Given the description of an element on the screen output the (x, y) to click on. 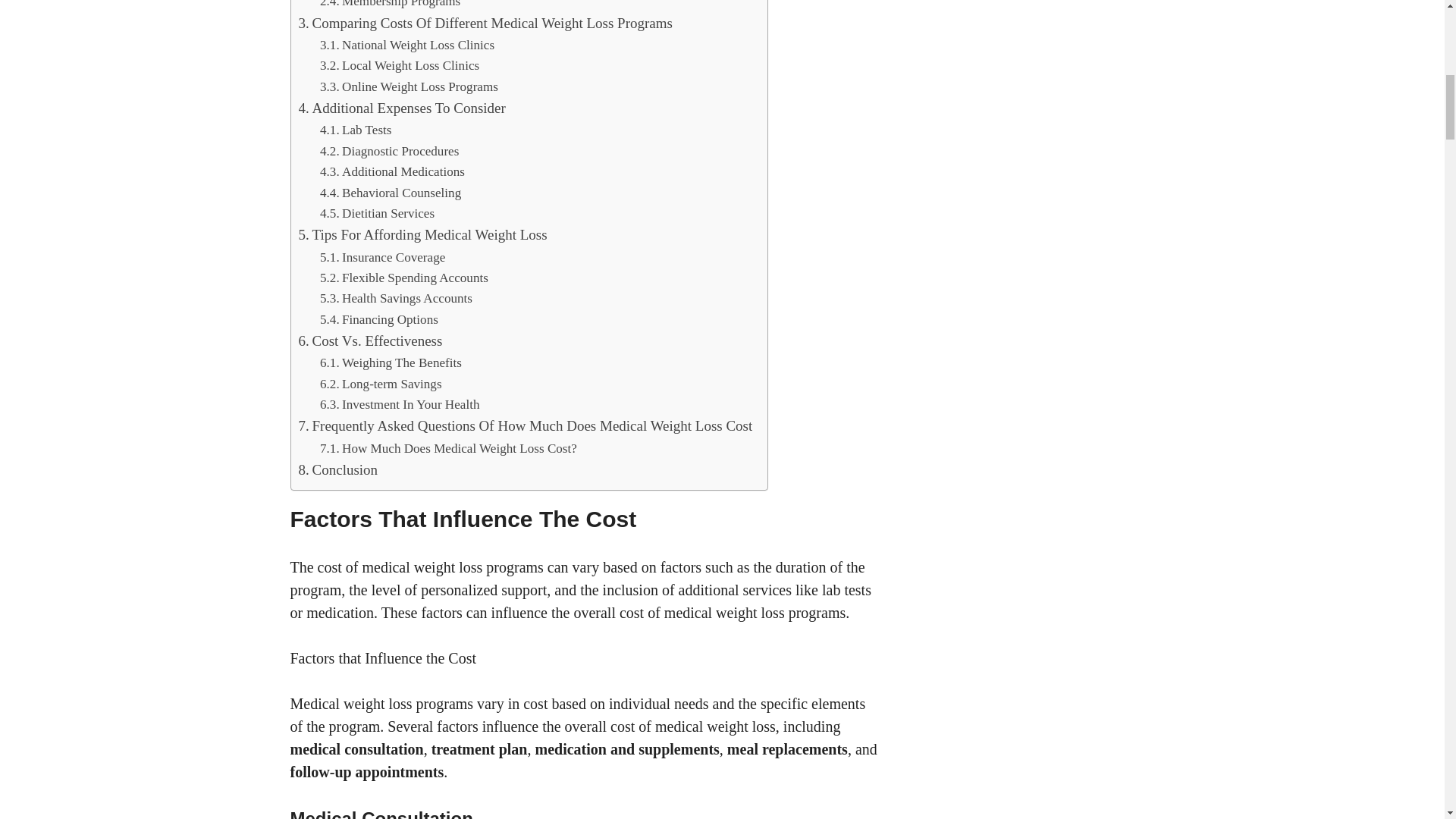
Long-term Savings (381, 383)
Diagnostic Procedures (389, 150)
Financing Options (379, 319)
Lab Tests (355, 129)
Cost Vs. Effectiveness (370, 341)
Additional Expenses To Consider (401, 108)
Behavioral Counseling (390, 192)
Dietitian Services (376, 213)
Comparing Costs Of Different Medical Weight Loss Programs (485, 23)
Online Weight Loss Programs (408, 86)
Membership Programs (390, 5)
Flexible Spending Accounts (403, 277)
Weighing The Benefits (390, 362)
Health Savings Accounts (395, 298)
Comparing Costs Of Different Medical Weight Loss Programs (485, 23)
